Given the description of an element on the screen output the (x, y) to click on. 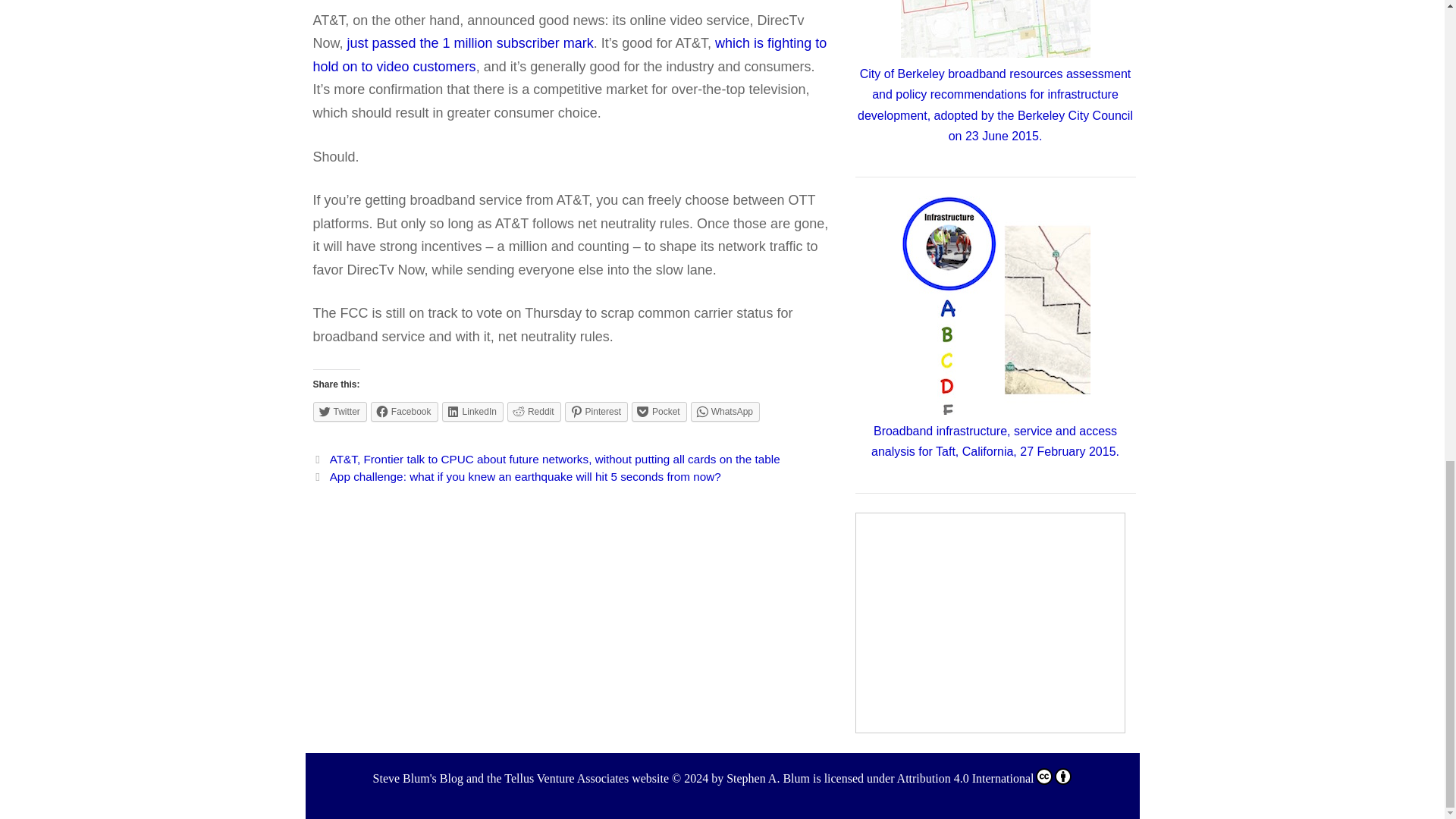
Previous (545, 459)
Next (516, 476)
Click to share on Pinterest (595, 411)
Click to share on Facebook (404, 411)
Click to share on LinkedIn (472, 411)
Click to share on WhatsApp (725, 411)
Click to share on Pocket (659, 411)
Click to share on Twitter (339, 411)
Click to share on Reddit (533, 411)
